Given the description of an element on the screen output the (x, y) to click on. 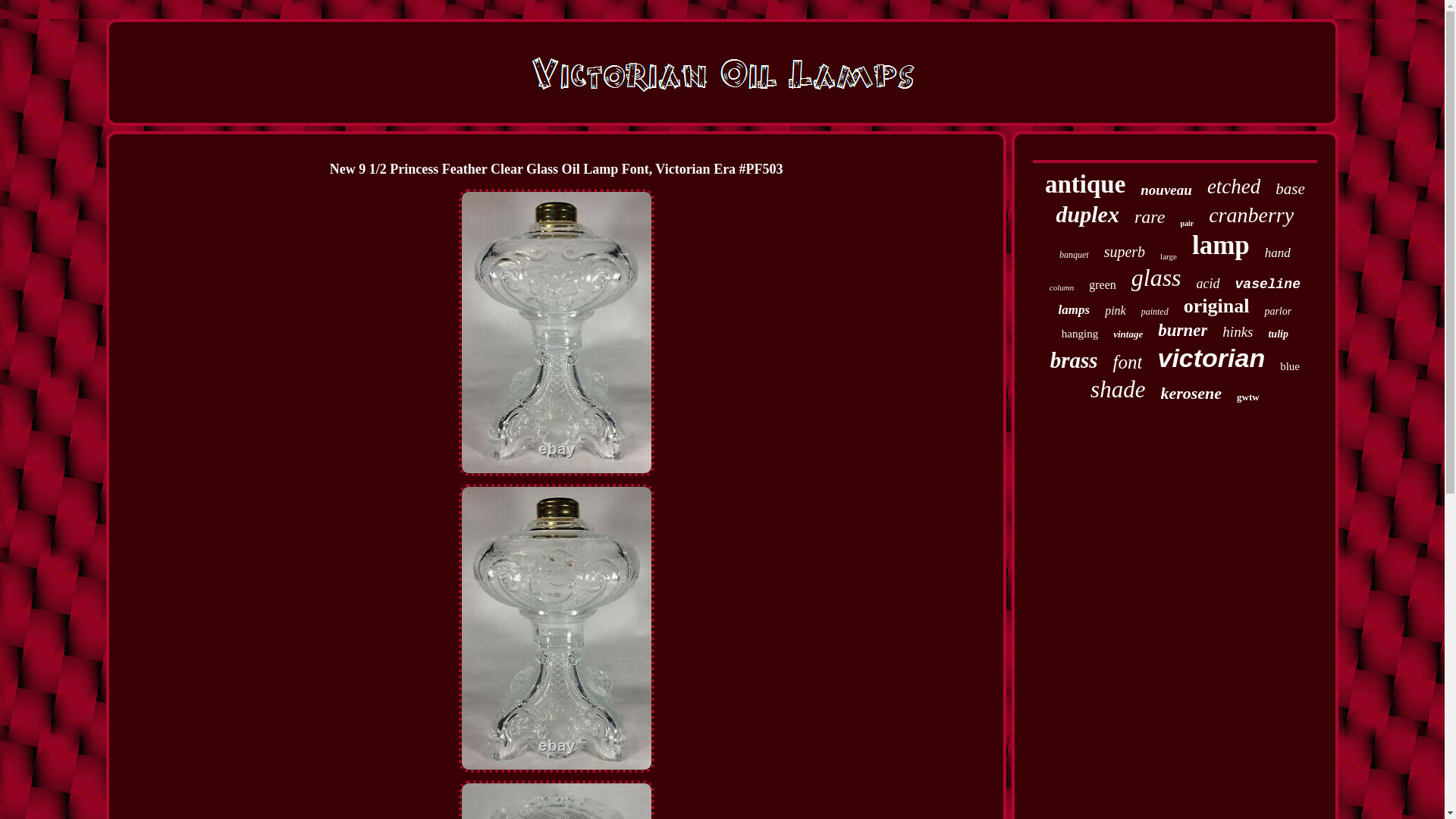
lamps (1074, 309)
lamp (1220, 245)
large (1168, 256)
pink (1115, 310)
duplex (1088, 214)
base (1289, 189)
burner (1182, 330)
hand (1277, 253)
glass (1155, 277)
superb (1123, 252)
